Given the description of an element on the screen output the (x, y) to click on. 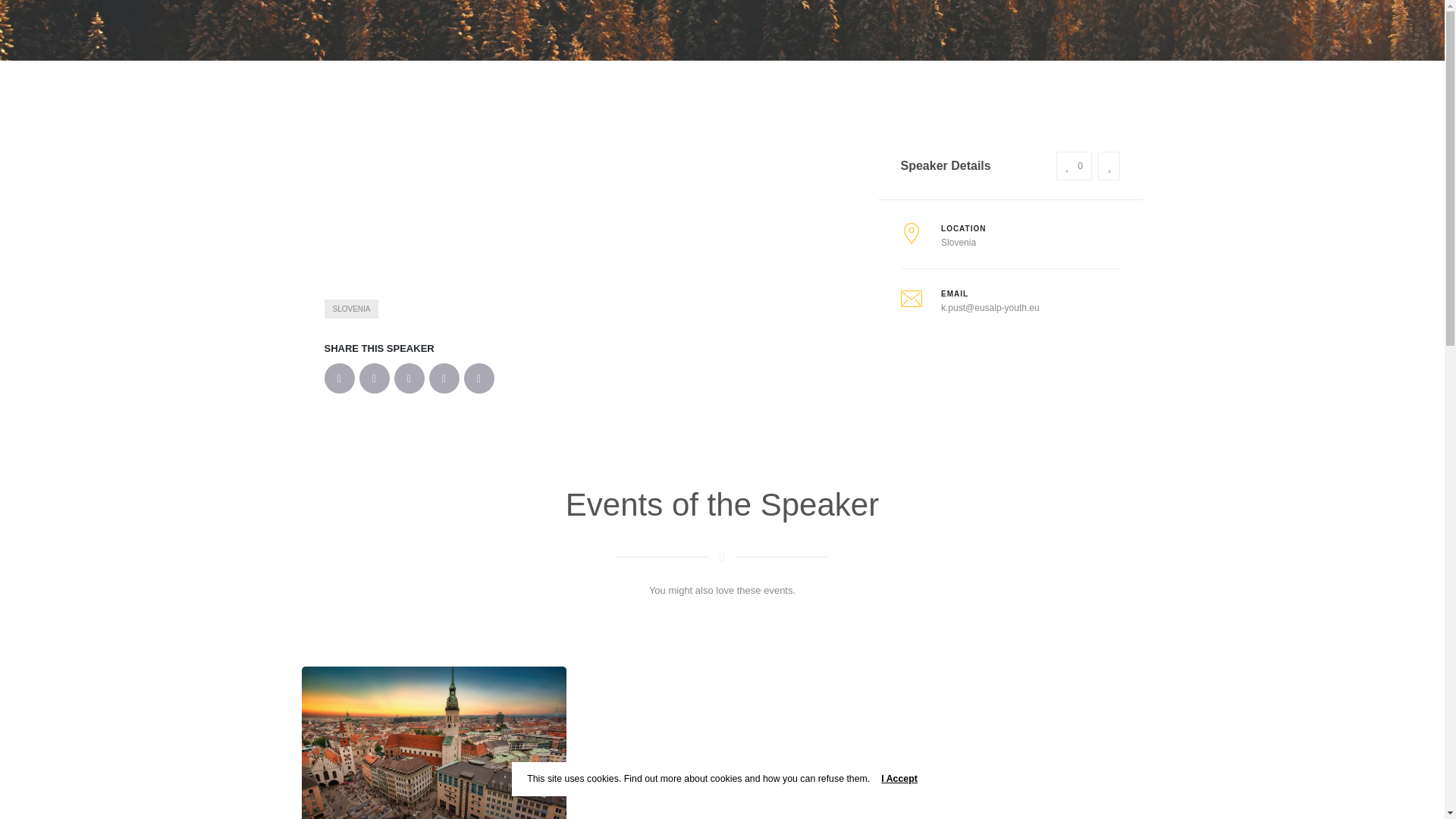
Facebook (339, 378)
Like (1073, 165)
LinkedIn (409, 378)
WhatsApp (444, 378)
Slovenia (957, 241)
Twitter (374, 378)
Slovenia (351, 307)
Email (479, 378)
